Given the description of an element on the screen output the (x, y) to click on. 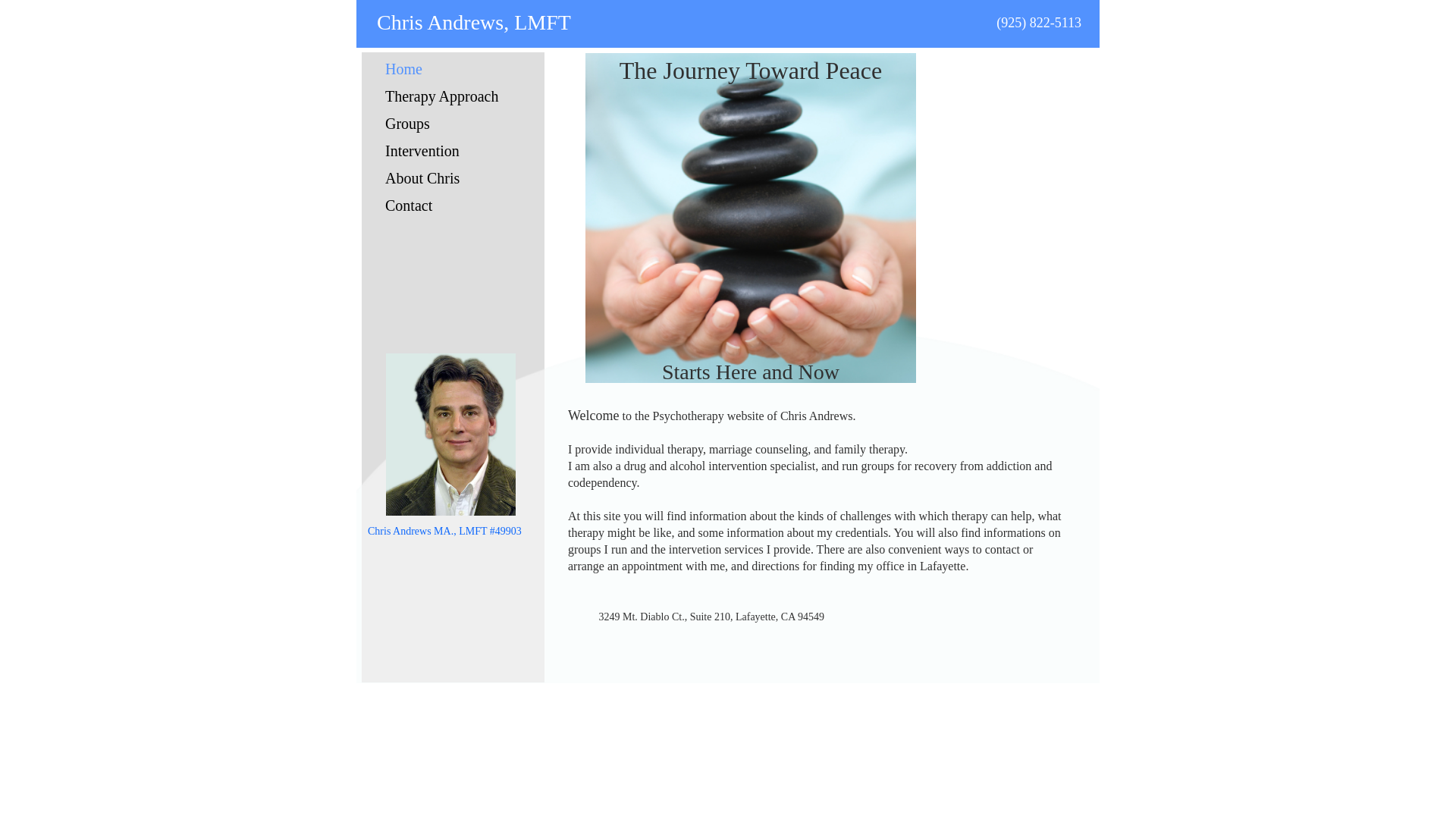
Intervention Element type: text (441, 150)
Contact Element type: text (441, 205)
Groups Element type: text (441, 123)
About Chris Element type: text (441, 177)
Home Element type: text (441, 68)
Therapy Approach Element type: text (441, 95)
